Given the description of an element on the screen output the (x, y) to click on. 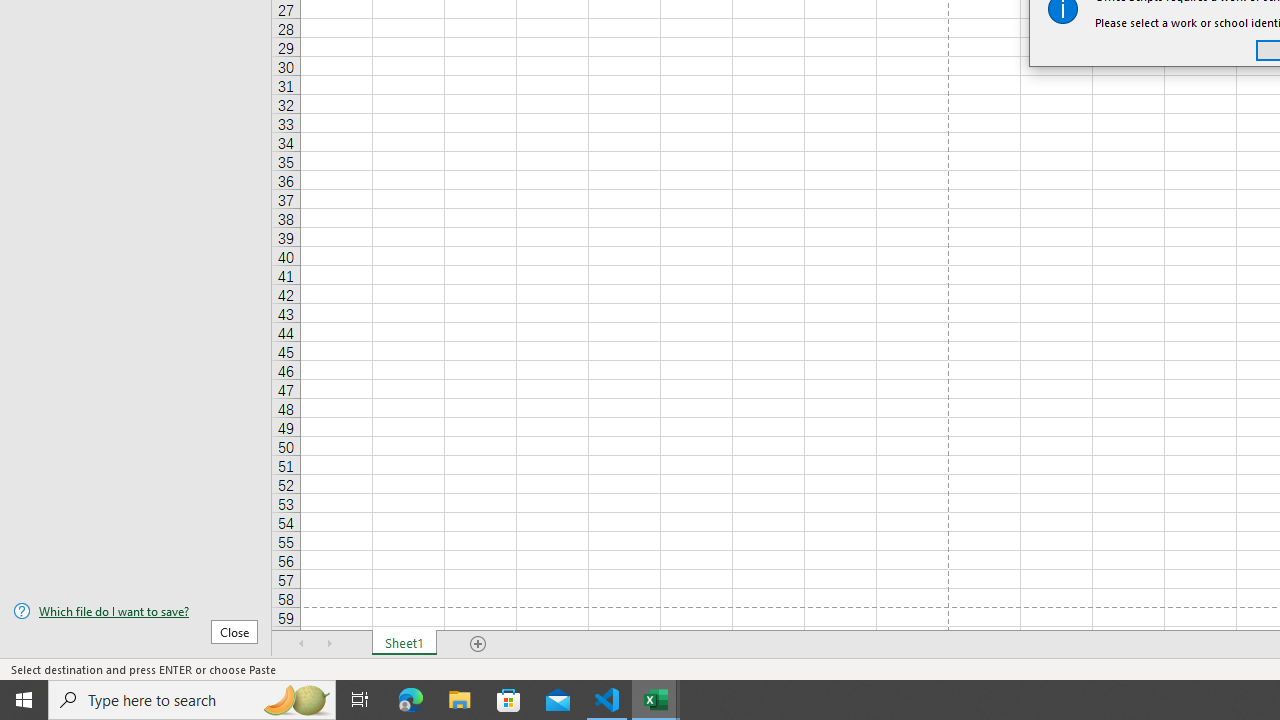
Excel - 2 running windows (656, 699)
